Given the description of an element on the screen output the (x, y) to click on. 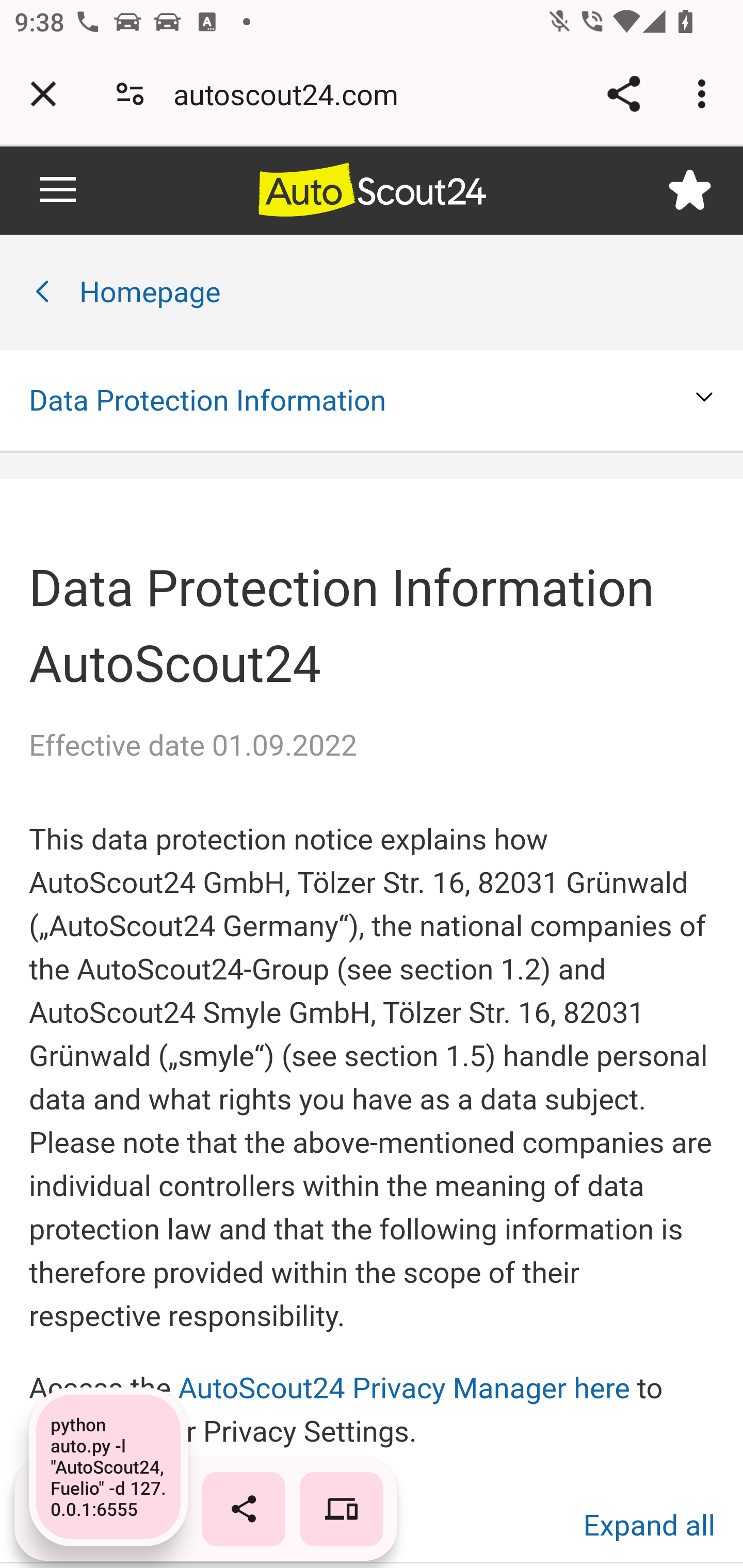
Close tab (43, 93)
Share (623, 93)
Customize and control Google Chrome (705, 93)
Connection is secure (129, 93)
autoscout24.com (293, 93)
Main menu (57, 189)
favorites (690, 189)
auto24-logo (371, 189)
Homepage (149, 293)
AutoScout24 Privacy Manager here (403, 1388)
Expand all (648, 1524)
